Given the description of an element on the screen output the (x, y) to click on. 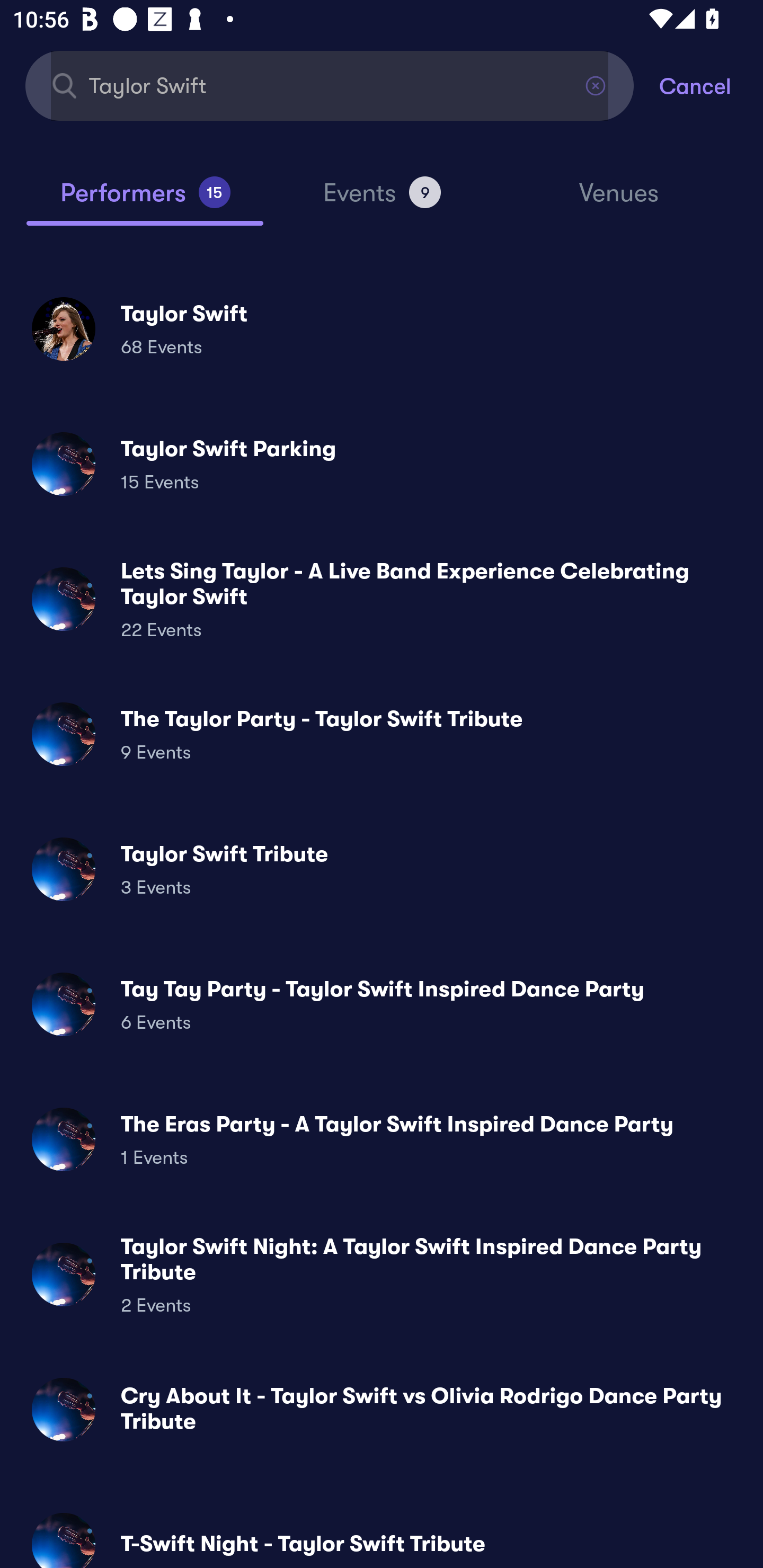
Taylor Swift Find (329, 85)
Taylor Swift Find (329, 85)
Cancel (711, 85)
Performers 15 (144, 200)
Events 9 (381, 200)
Venues (618, 201)
Taylor Swift 68 Events (381, 328)
Taylor Swift Parking 15 Events (381, 464)
The Taylor Party - Taylor Swift Tribute 9 Events (381, 734)
Taylor Swift Tribute 3 Events (381, 869)
T-Swift Night - Taylor Swift Tribute (381, 1532)
